Given the description of an element on the screen output the (x, y) to click on. 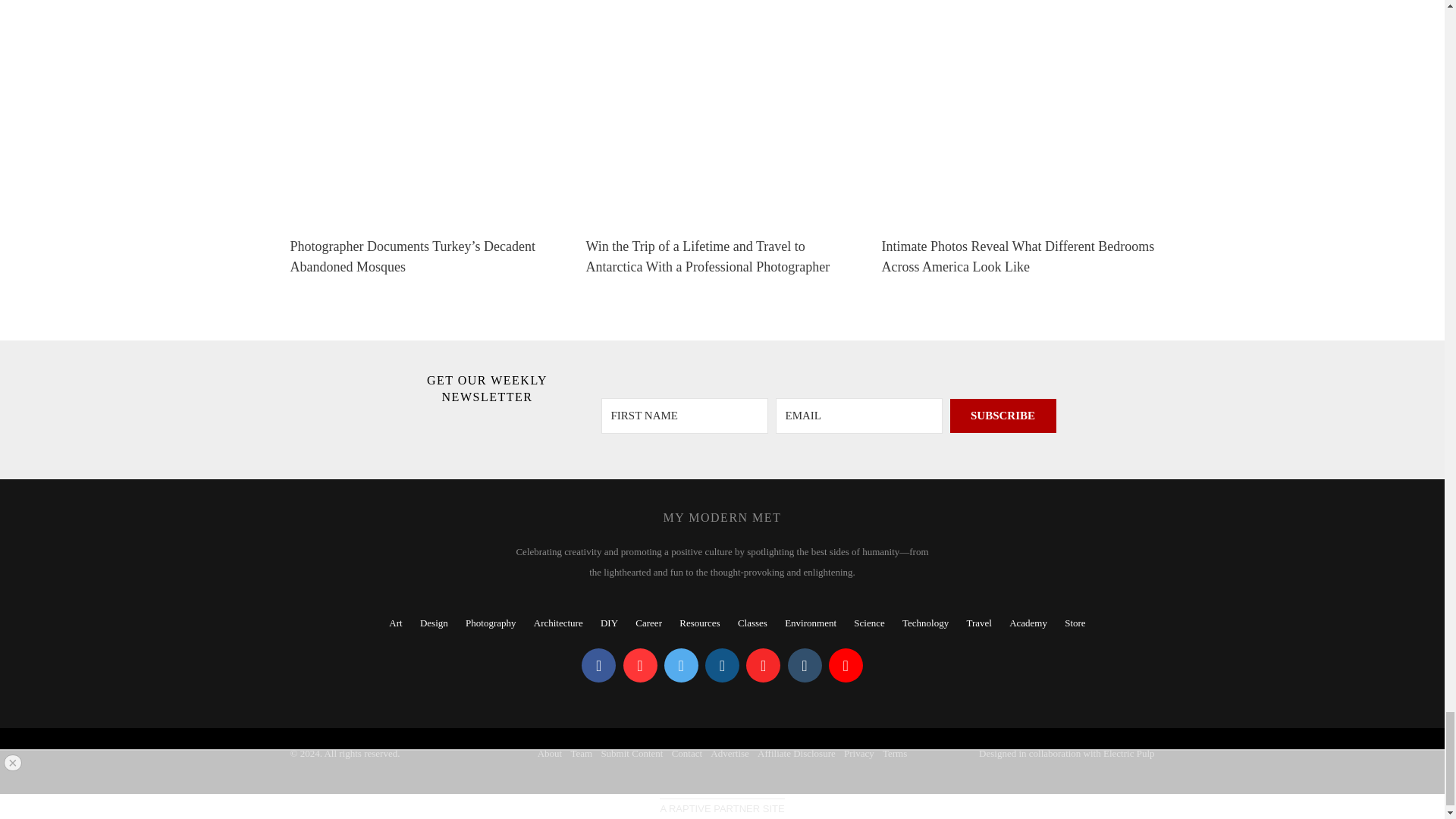
My Modern Met on Twitter (680, 665)
My Modern Met on Facebook (597, 665)
My Modern Met on Instagram (721, 665)
My Modern Met on YouTube (845, 665)
My Modern Met on Pinterest (640, 665)
My Modern Met on Tumblr (804, 665)
